Given the description of an element on the screen output the (x, y) to click on. 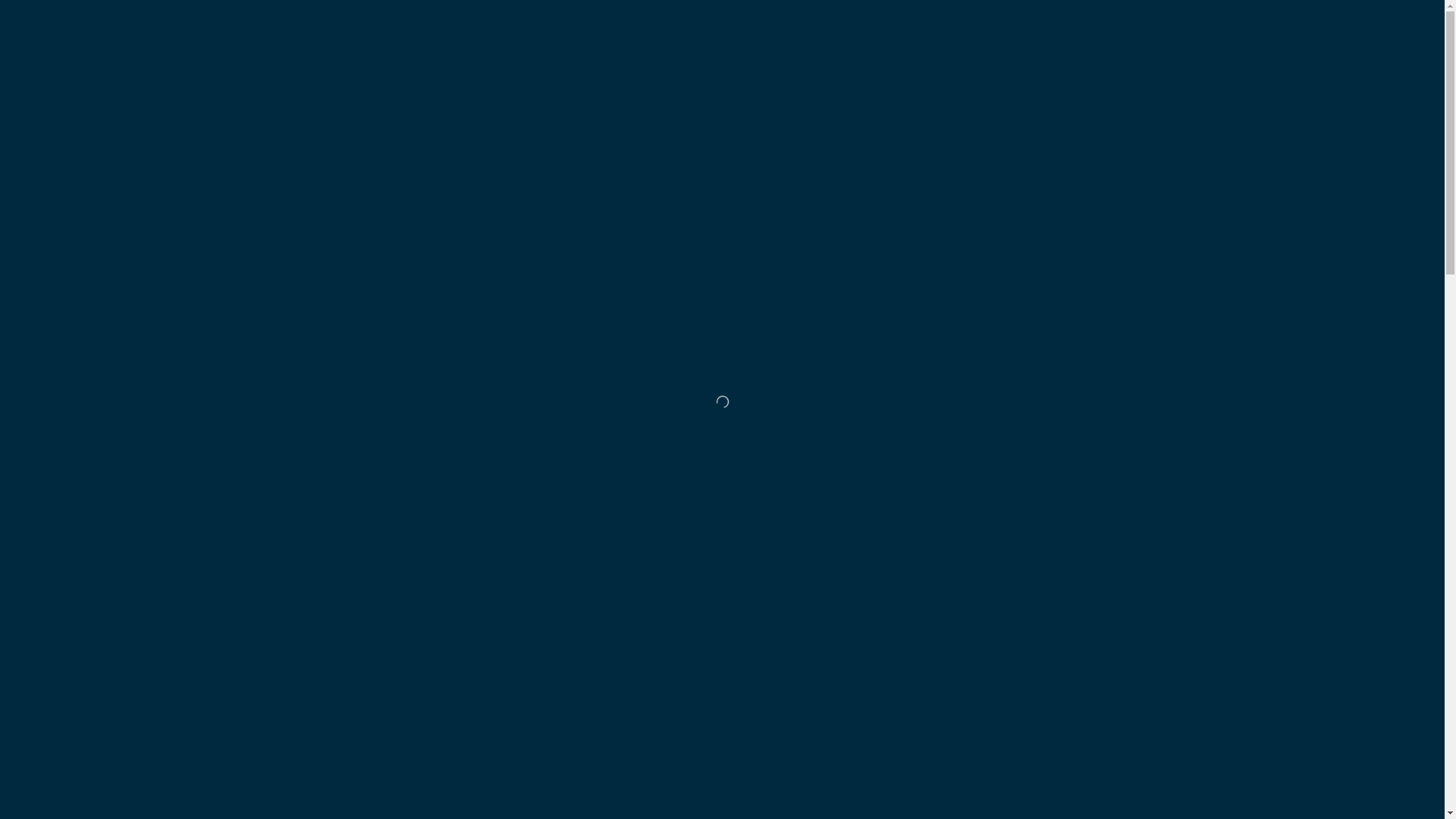
Contact Element type: text (1126, 24)
Virtual harvest Element type: text (742, 24)
Top Element type: text (1408, 782)
Products Element type: text (941, 24)
About HPA Element type: text (644, 24)
News & Events Element type: text (1035, 24)
Meet the team Element type: text (849, 24)
